Given the description of an element on the screen output the (x, y) to click on. 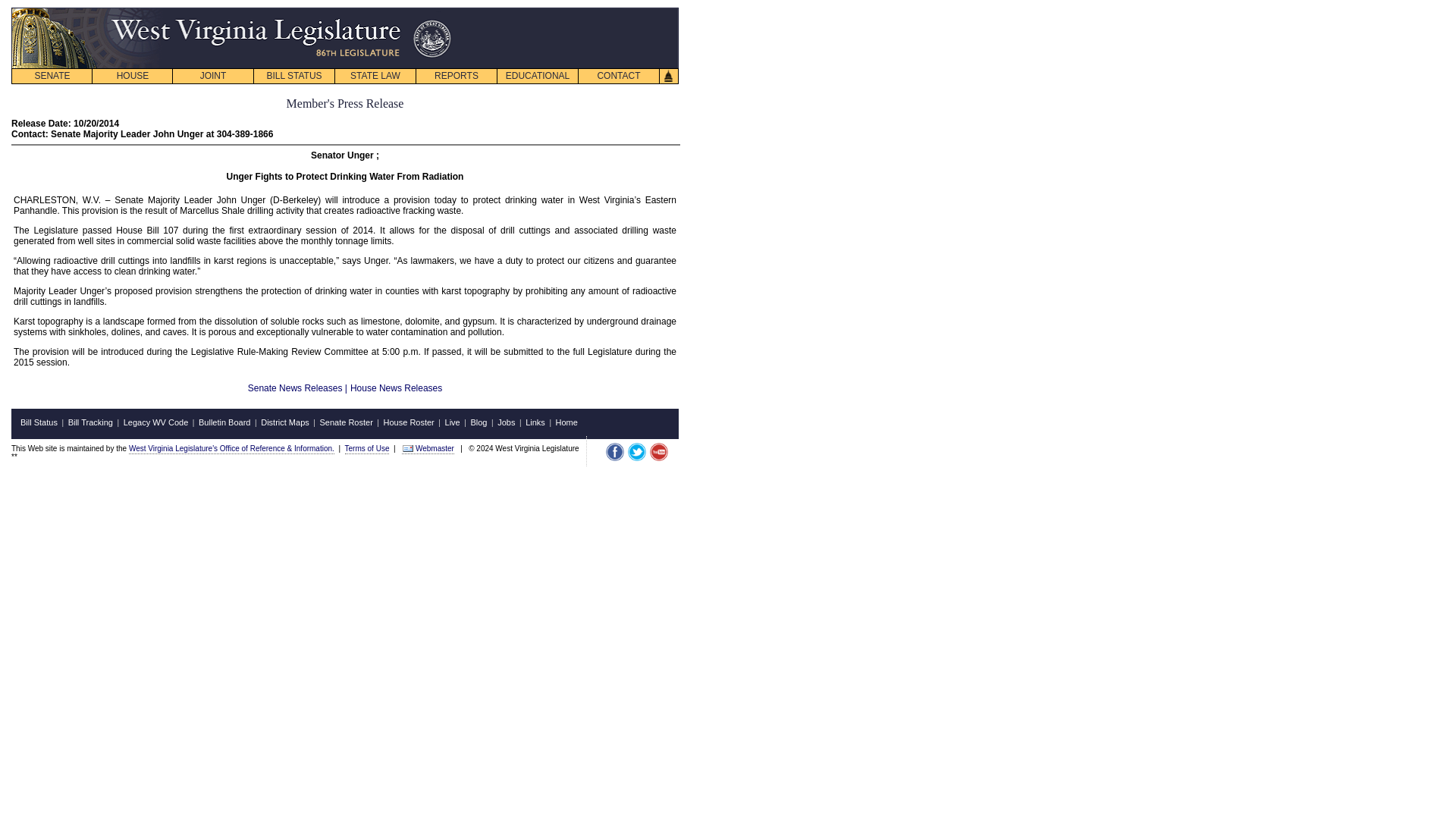
JOINT (212, 75)
Follow on Twitter (636, 452)
Watch on YouTube (658, 452)
BILL STATUS (293, 75)
SENATE (52, 75)
STATE LAW (375, 75)
Find on Facebook (614, 452)
HOUSE (132, 75)
Email Webmaster (407, 448)
